Given the description of an element on the screen output the (x, y) to click on. 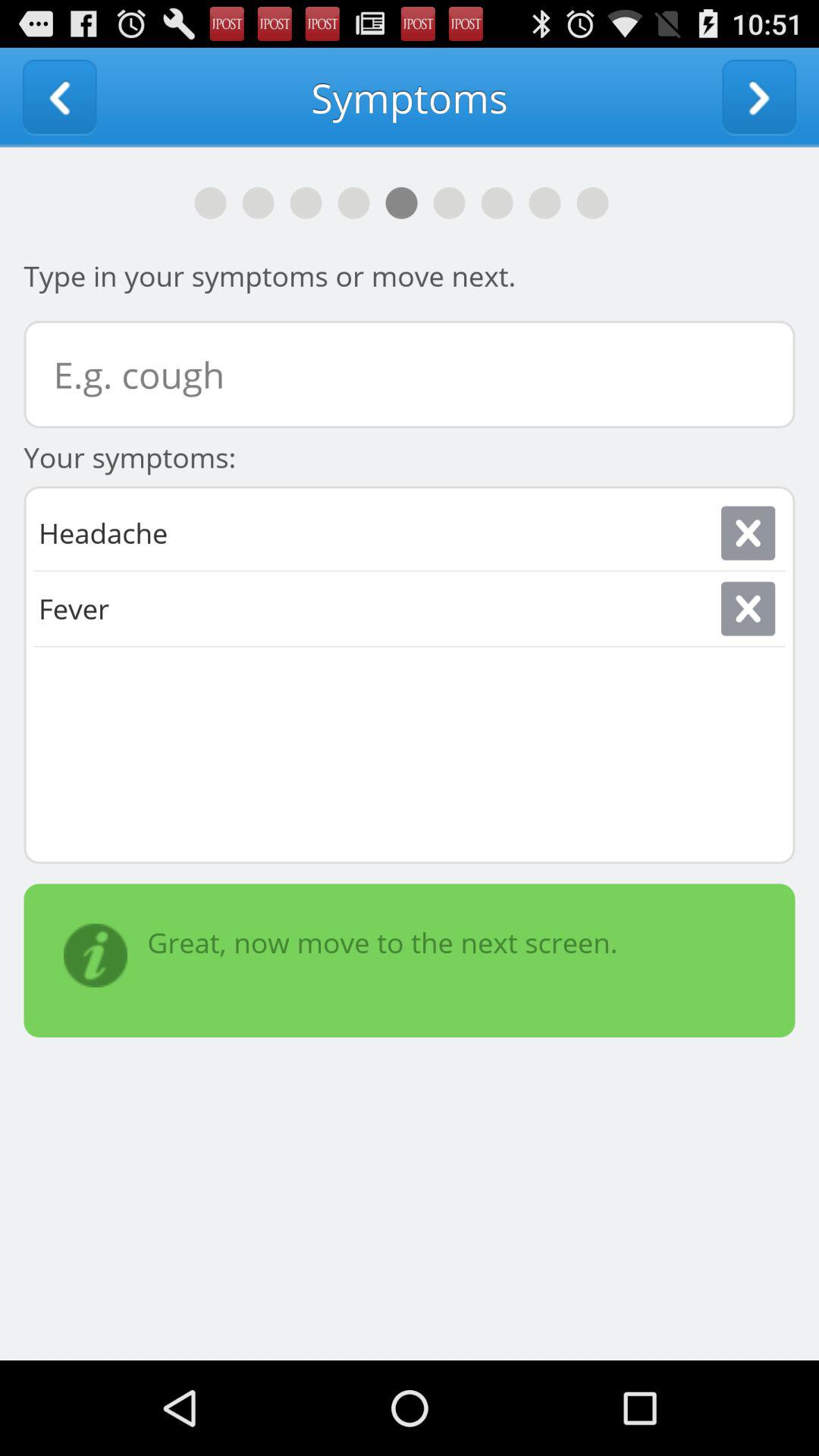
remove item (748, 533)
